Given the description of an element on the screen output the (x, y) to click on. 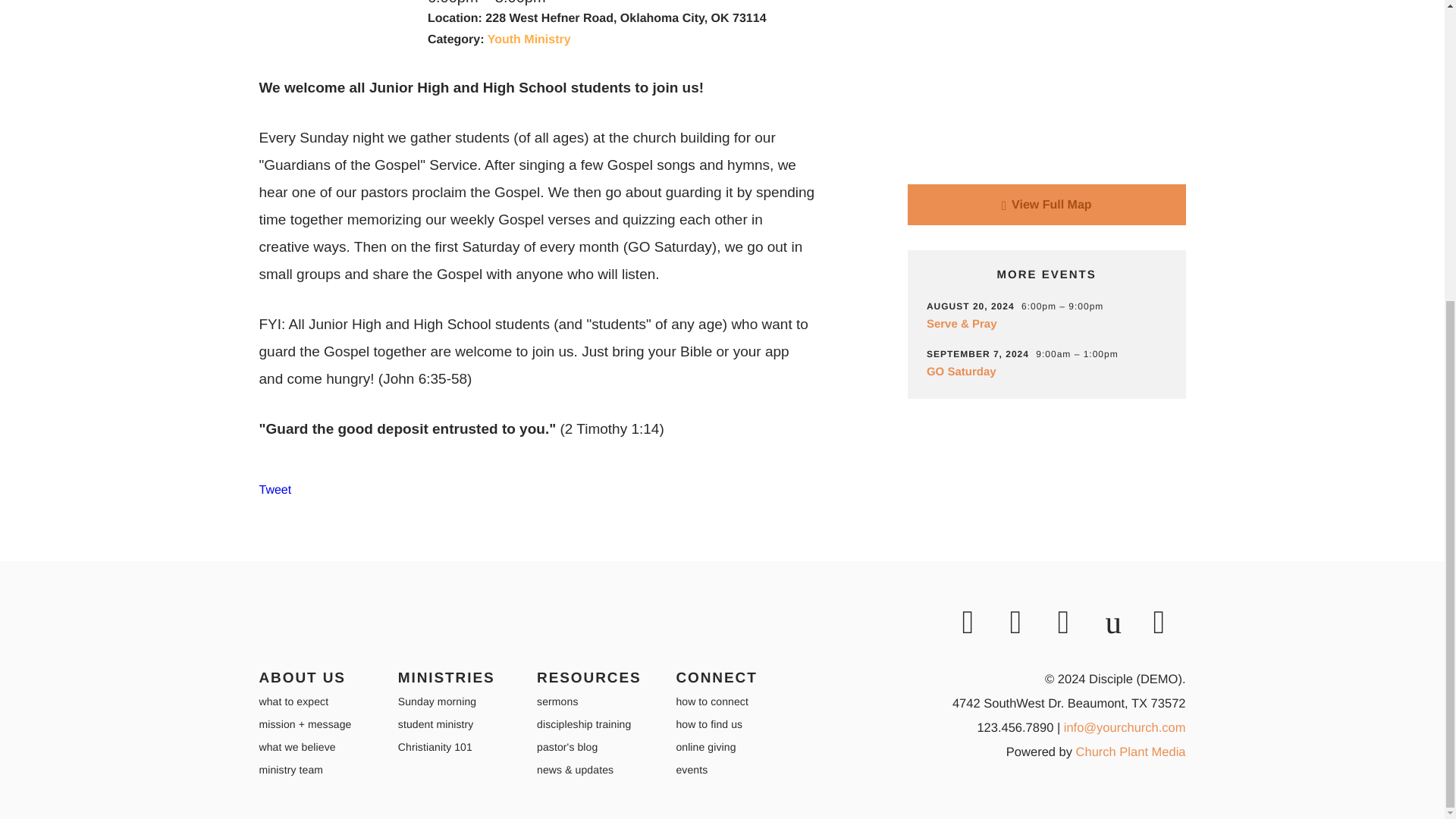
instagram (977, 622)
facebook (1073, 622)
ccb (1121, 622)
twitter (1026, 622)
mail (1169, 622)
